Given the description of an element on the screen output the (x, y) to click on. 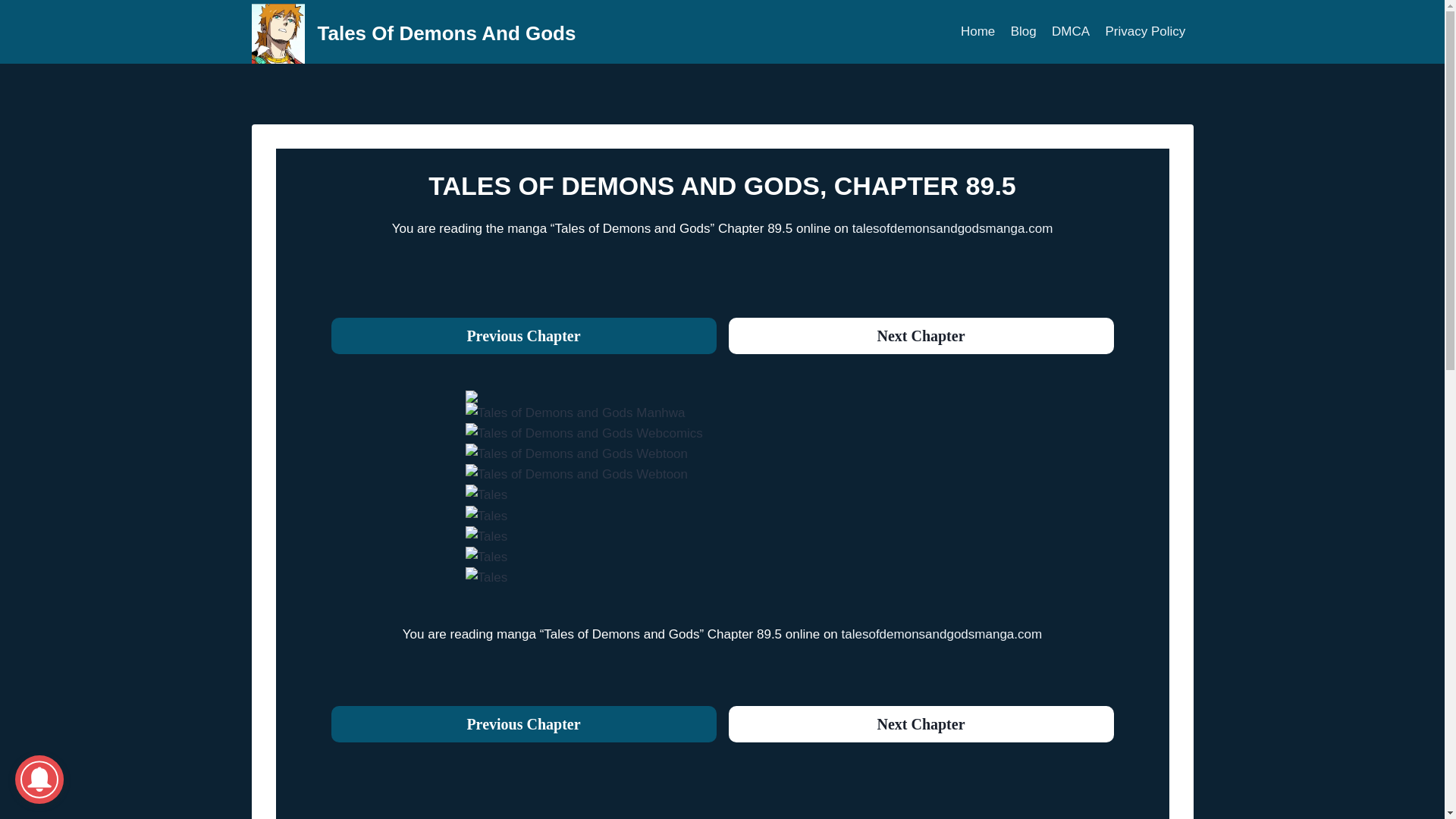
talesofdemonsandgodsmanga.com (941, 634)
talesofdemonsandgodsmanga.com (951, 228)
Tales Of Demons And Gods (413, 33)
Next Chapter (920, 335)
Previous Chapter (523, 723)
DMCA (1070, 31)
Previous Chapter (523, 335)
Privacy Policy (1144, 31)
Next Chapter (920, 723)
